Given the description of an element on the screen output the (x, y) to click on. 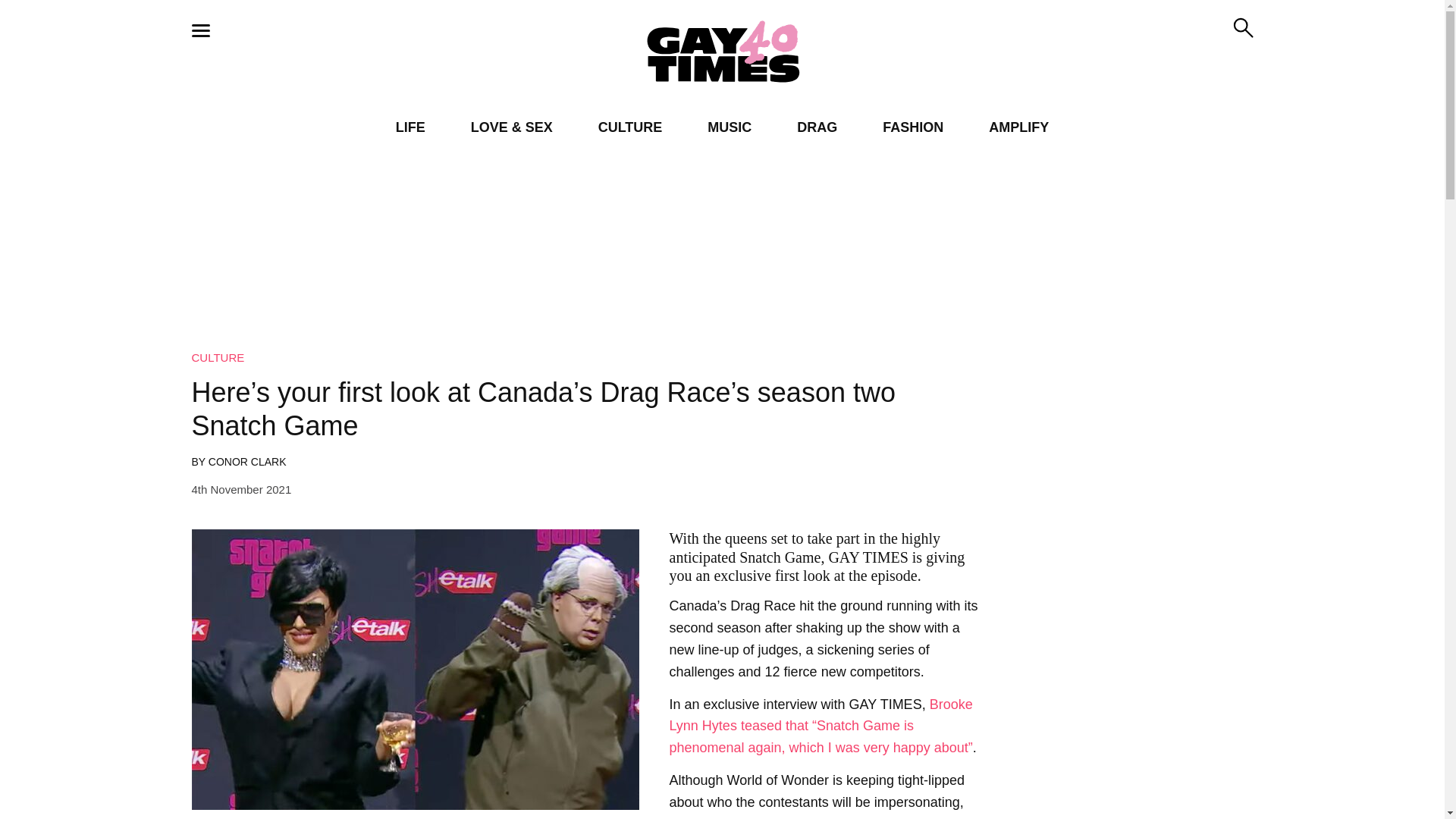
DRAG (816, 127)
MUSIC (729, 127)
CULTURE (217, 357)
LIFE (410, 127)
CONOR CLARK (247, 461)
CULTURE (630, 127)
AMPLIFY (1018, 127)
FASHION (912, 127)
